Given the description of an element on the screen output the (x, y) to click on. 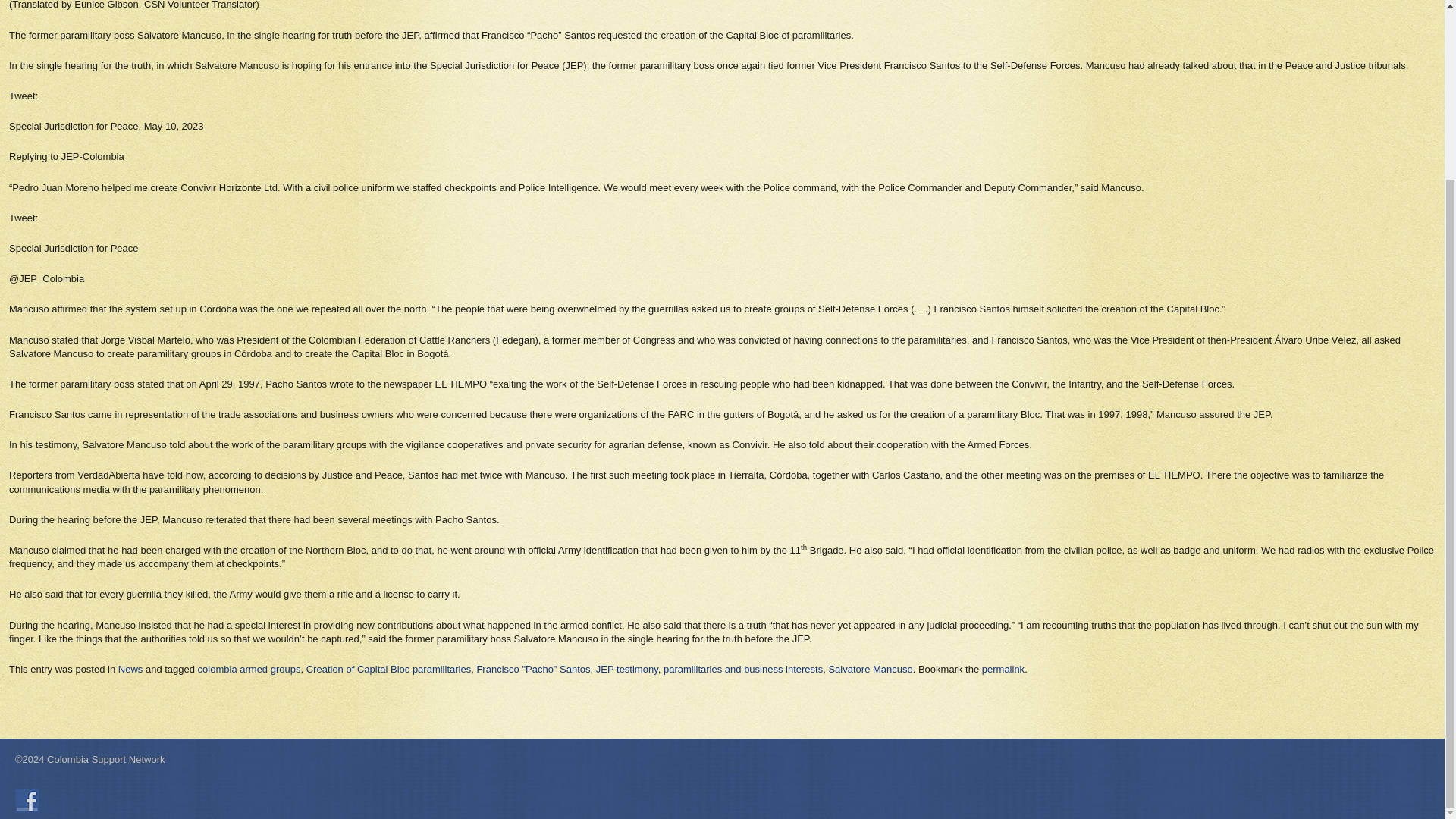
paramilitaries and business interests (742, 668)
Salvatore Mancuso (870, 668)
News (129, 668)
permalink (1003, 668)
JEP testimony (626, 668)
colombia armed groups (249, 668)
Francisco "Pacho" Santos (532, 668)
Follow Us on Facebook (26, 800)
Creation of Capital Bloc paramilitaries (387, 668)
